Given the description of an element on the screen output the (x, y) to click on. 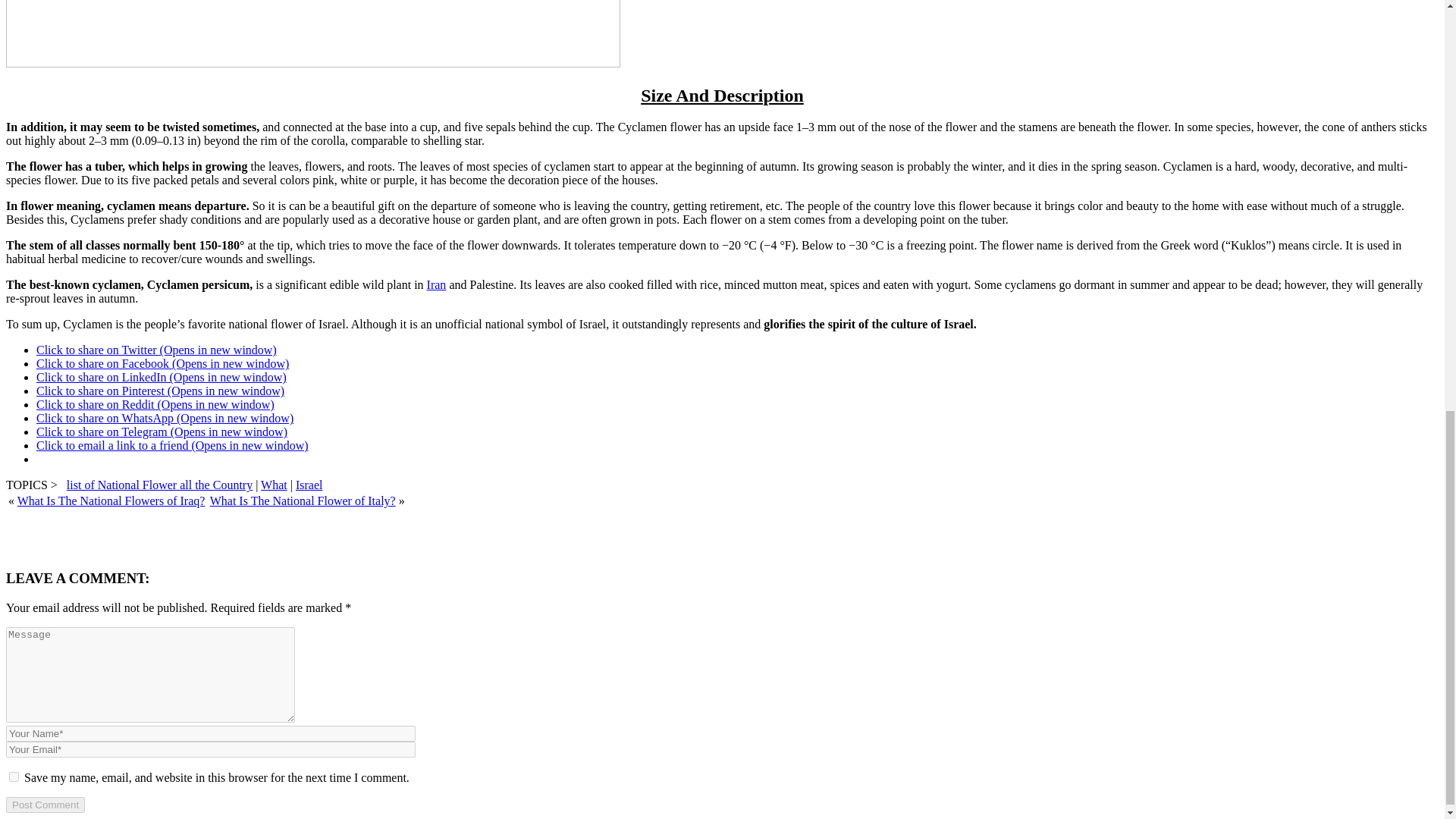
Click to share on Reddit (155, 404)
Post Comment (44, 804)
yes (13, 777)
Click to share on Twitter (156, 349)
Click to email a link to a friend (172, 445)
What Is The National Flowers of Iraq? (111, 500)
Iran (436, 284)
Click to share on Pinterest (159, 390)
Israel (309, 484)
Click to share on Telegram (161, 431)
Click to share on WhatsApp (165, 418)
What (273, 484)
What Is The National Flower of Italy? (302, 500)
Post Comment (44, 804)
list of National Flower all the Country (158, 484)
